Given the description of an element on the screen output the (x, y) to click on. 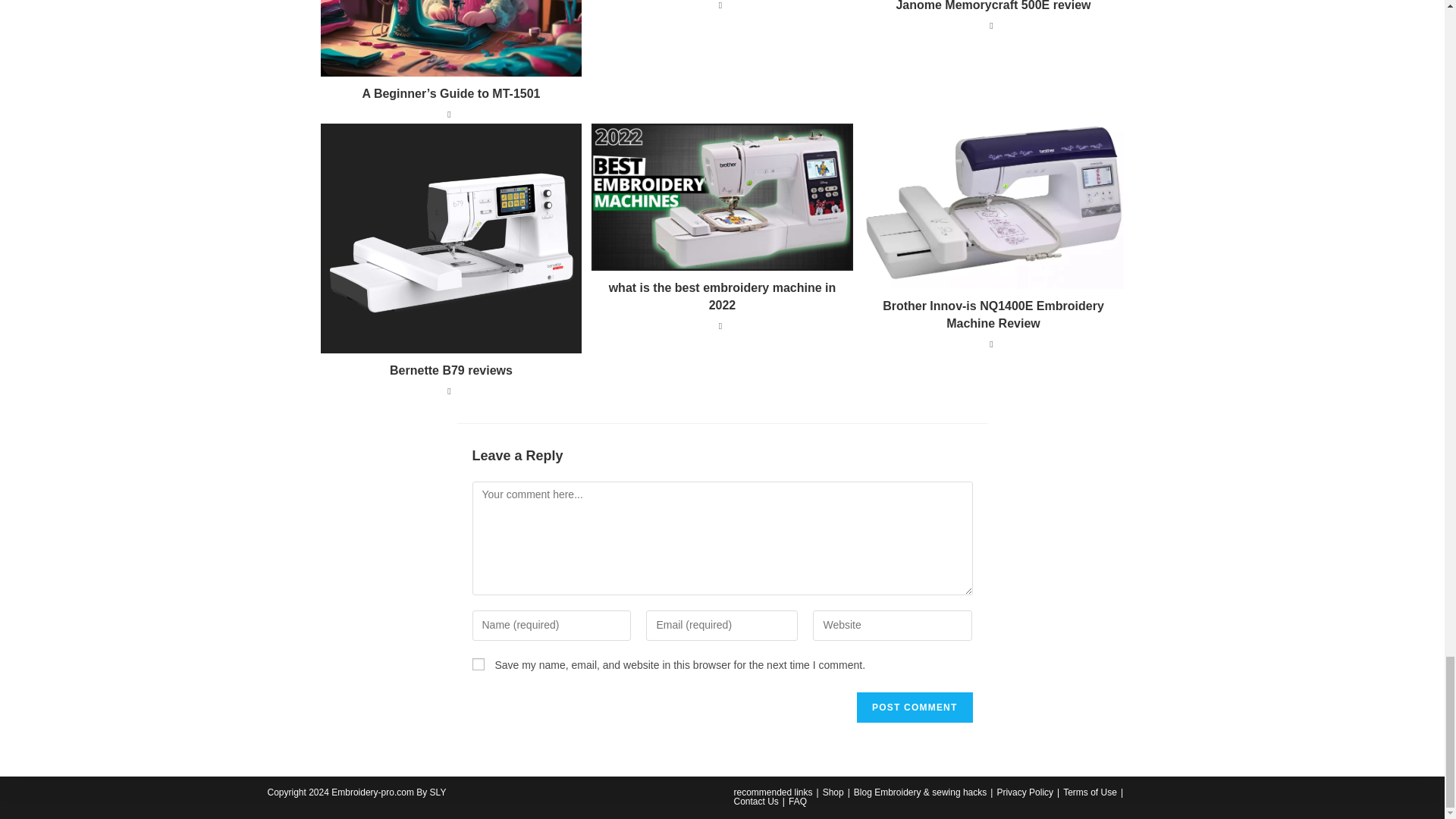
what is the best embroidery machine in 2022 6 (722, 197)
yes (477, 664)
A Beginner's Guide to MT-1501 2 (450, 38)
Bernette B79 reviews 5 (450, 237)
Post Comment (914, 707)
